Given the description of an element on the screen output the (x, y) to click on. 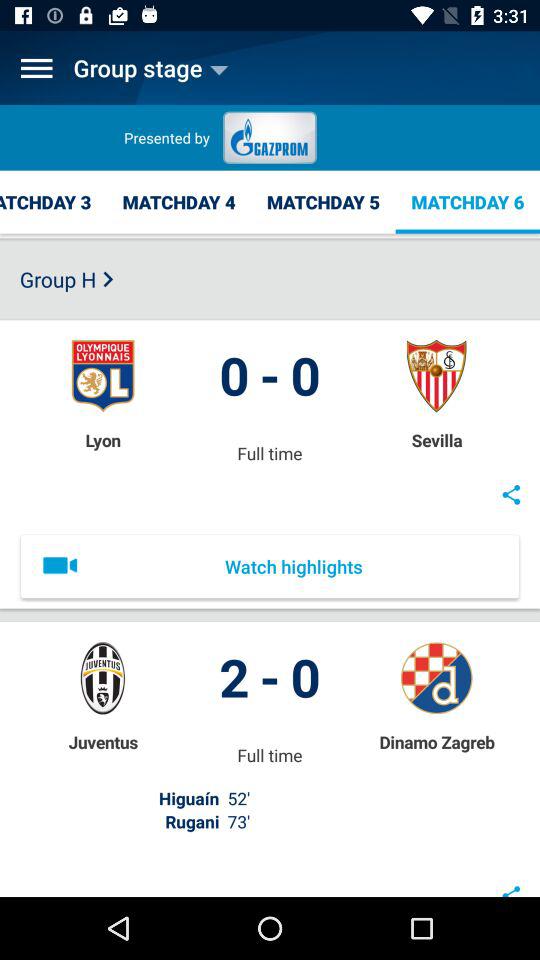
launch item next to the group stage icon (36, 68)
